Given the description of an element on the screen output the (x, y) to click on. 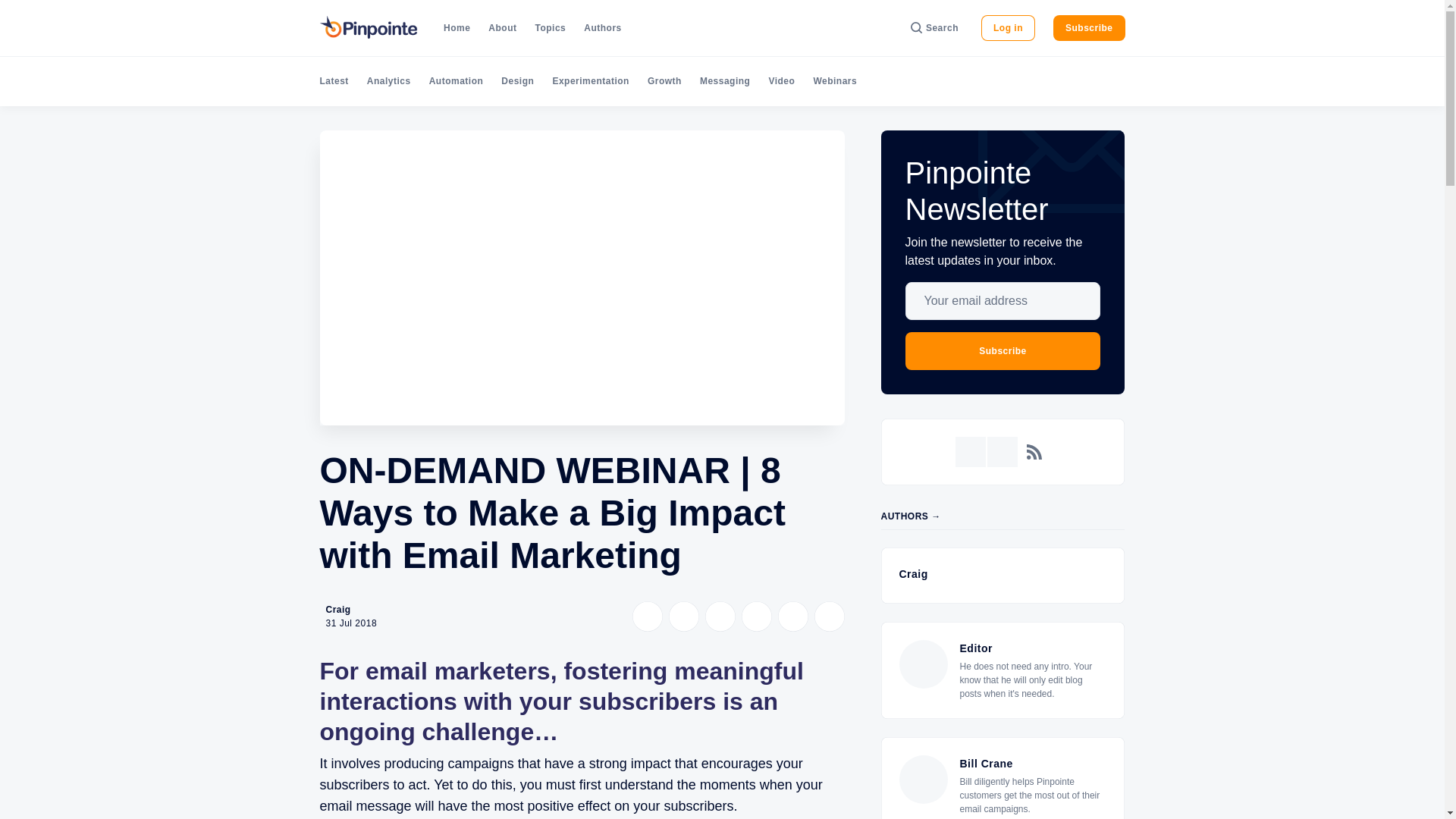
Share on Facebook (683, 616)
Share via Email (792, 616)
Copy link (828, 616)
Craig (338, 609)
Automation (456, 81)
Authors (602, 28)
Share on Pinterest (756, 616)
Search (933, 28)
Log in (1008, 27)
